Given the description of an element on the screen output the (x, y) to click on. 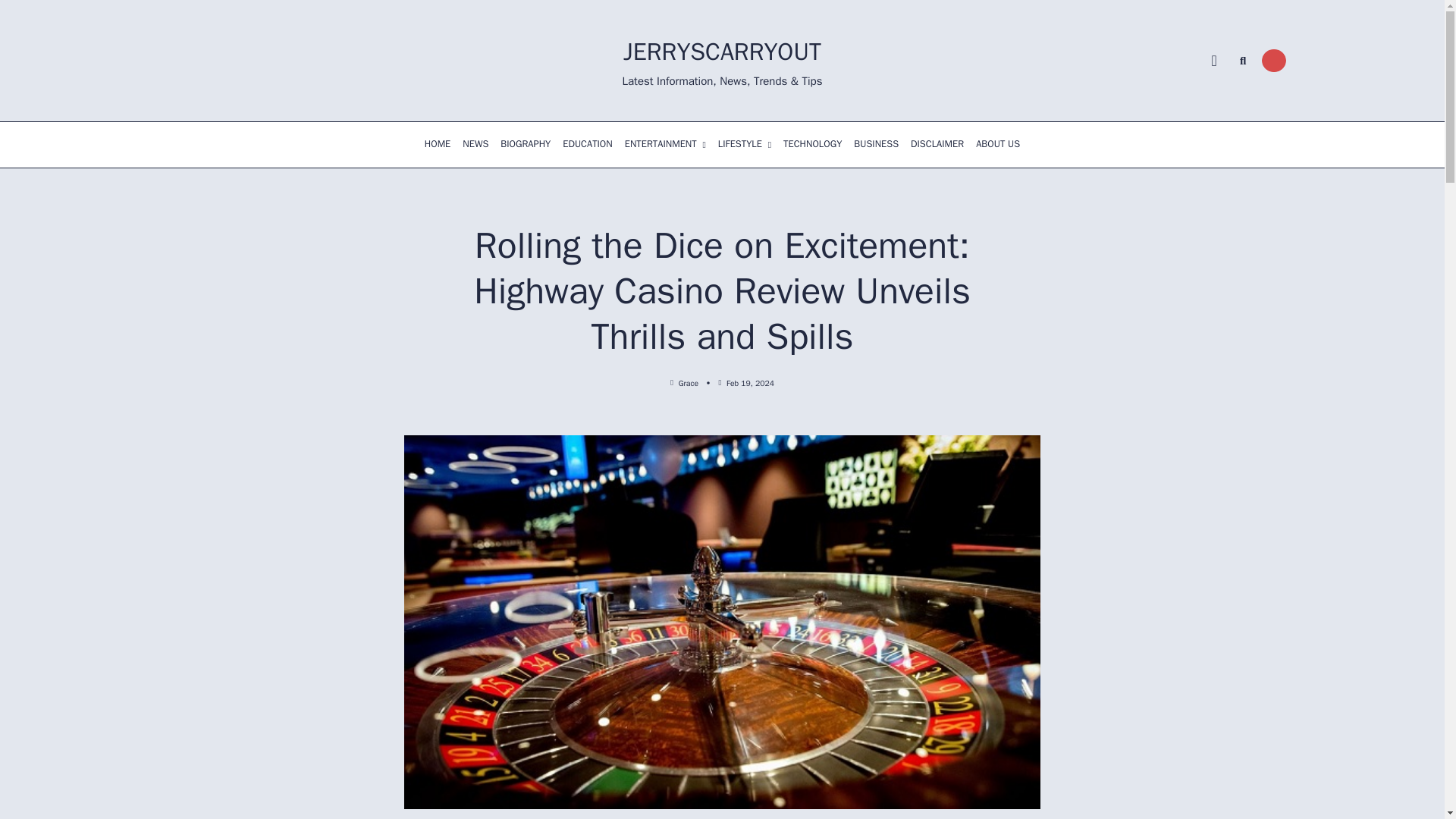
JERRYSCARRYOUT (722, 51)
